Given the description of an element on the screen output the (x, y) to click on. 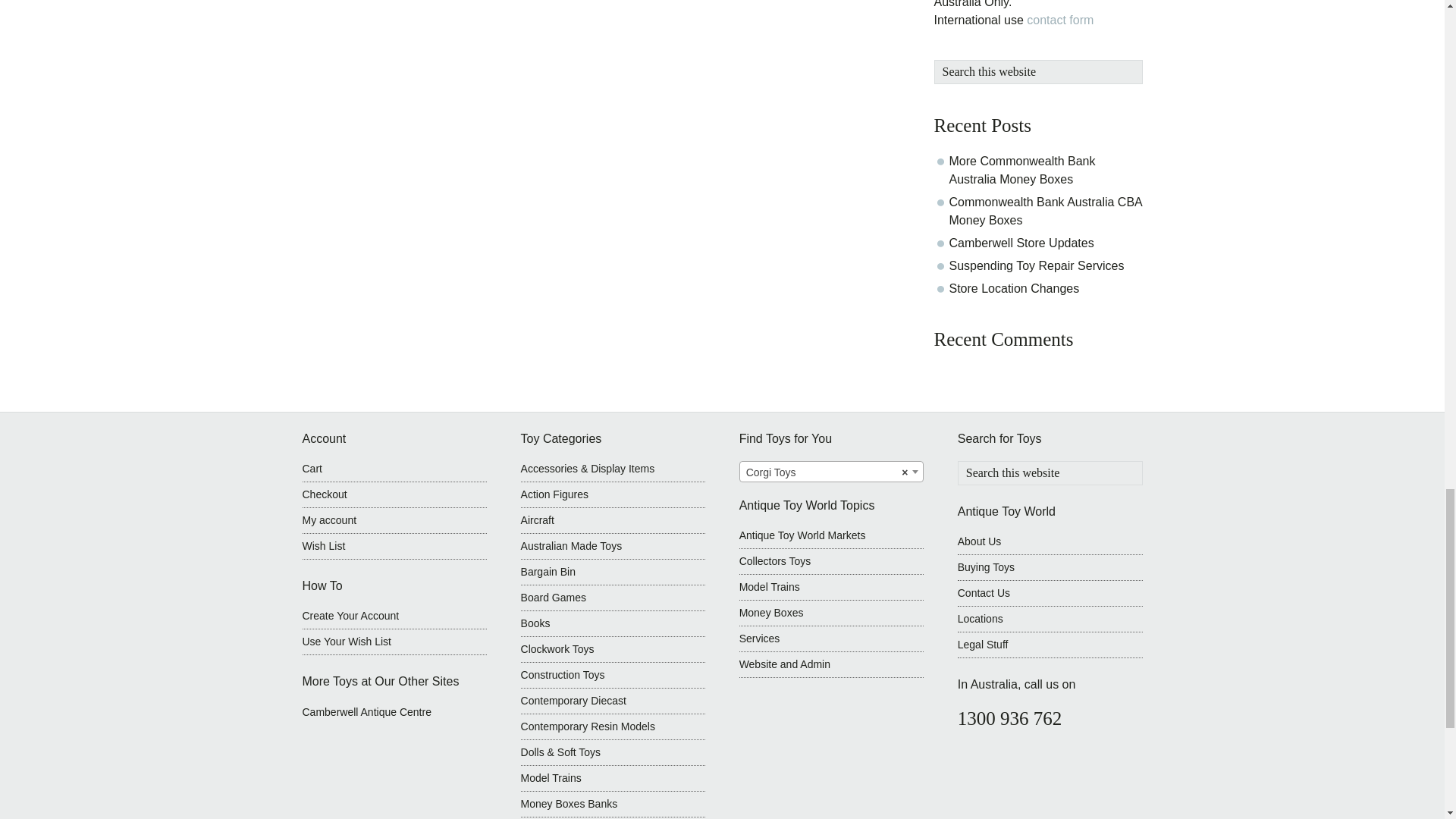
contact form (1059, 19)
Corgi Toys (831, 472)
